Given the description of an element on the screen output the (x, y) to click on. 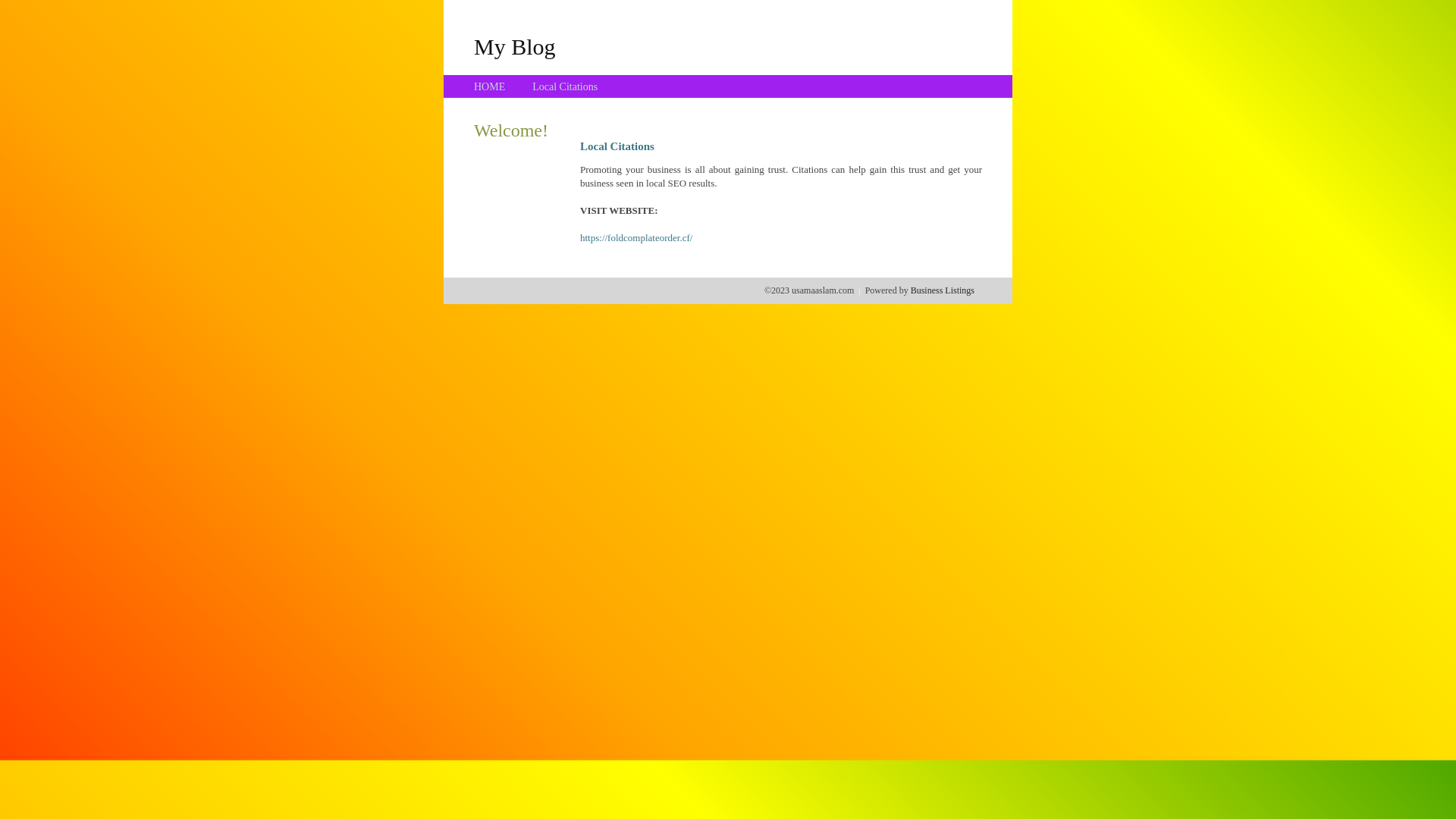
My Blog Element type: text (514, 46)
Business Listings Element type: text (942, 290)
HOME Element type: text (489, 86)
https://foldcomplateorder.cf/ Element type: text (636, 237)
Local Citations Element type: text (564, 86)
